Given the description of an element on the screen output the (x, y) to click on. 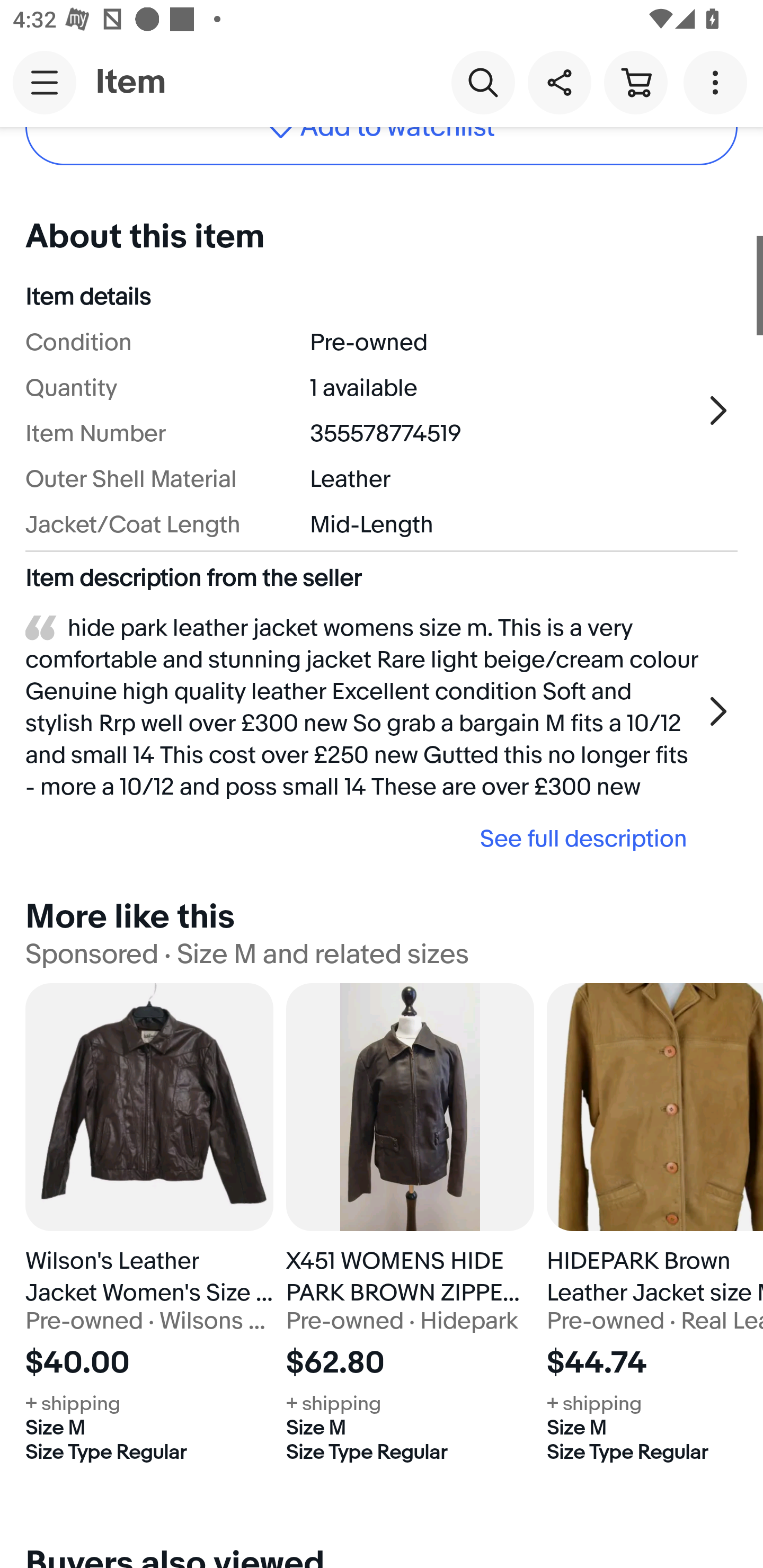
Main navigation, open (44, 82)
Search (482, 81)
Share this item (559, 81)
Cart button shopping cart (635, 81)
More options (718, 81)
See full description (362, 837)
